Given the description of an element on the screen output the (x, y) to click on. 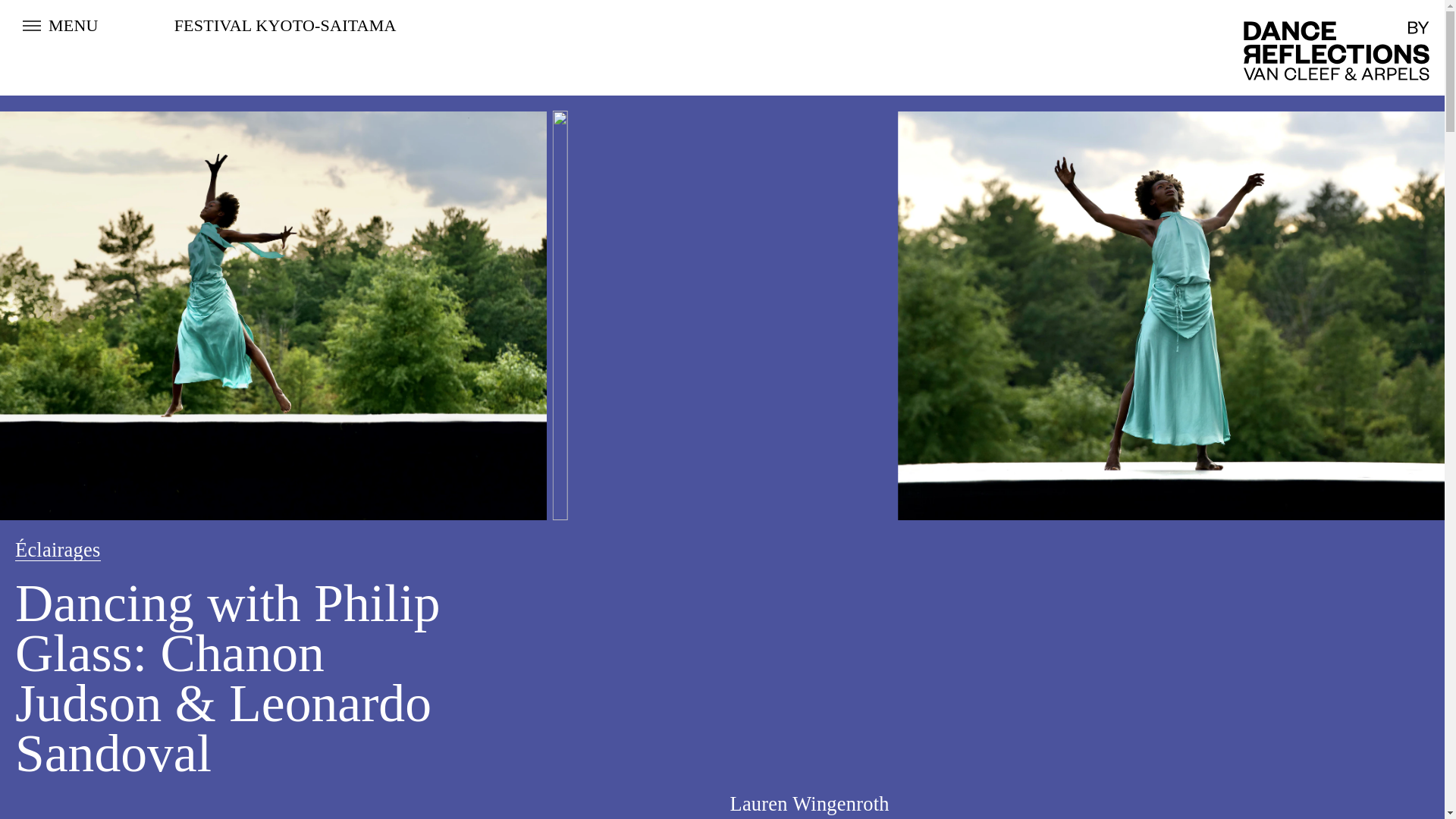
FESTIVAL KYOTO-SAITAMA (285, 25)
DR (1336, 47)
MENU (56, 25)
